Given the description of an element on the screen output the (x, y) to click on. 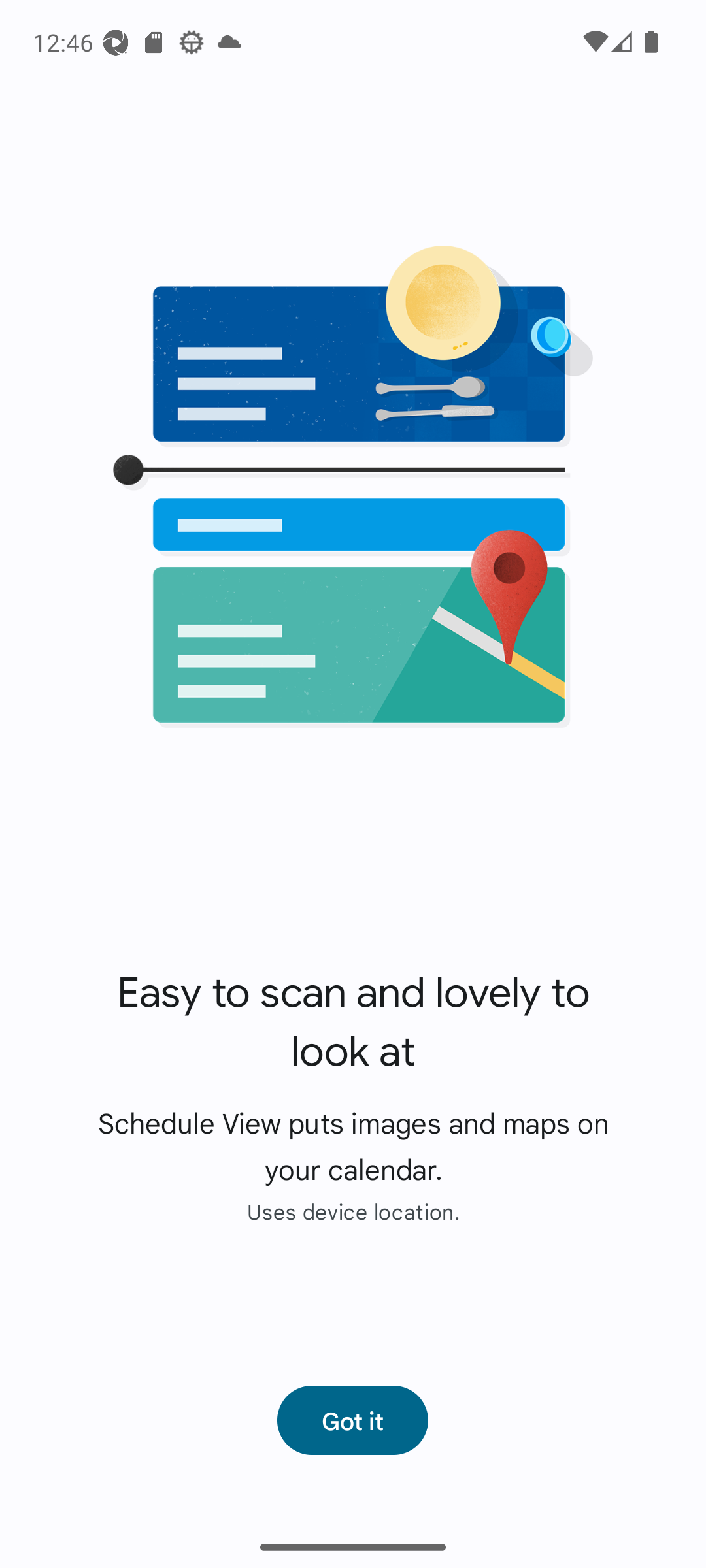
Got it (352, 1420)
